Given the description of an element on the screen output the (x, y) to click on. 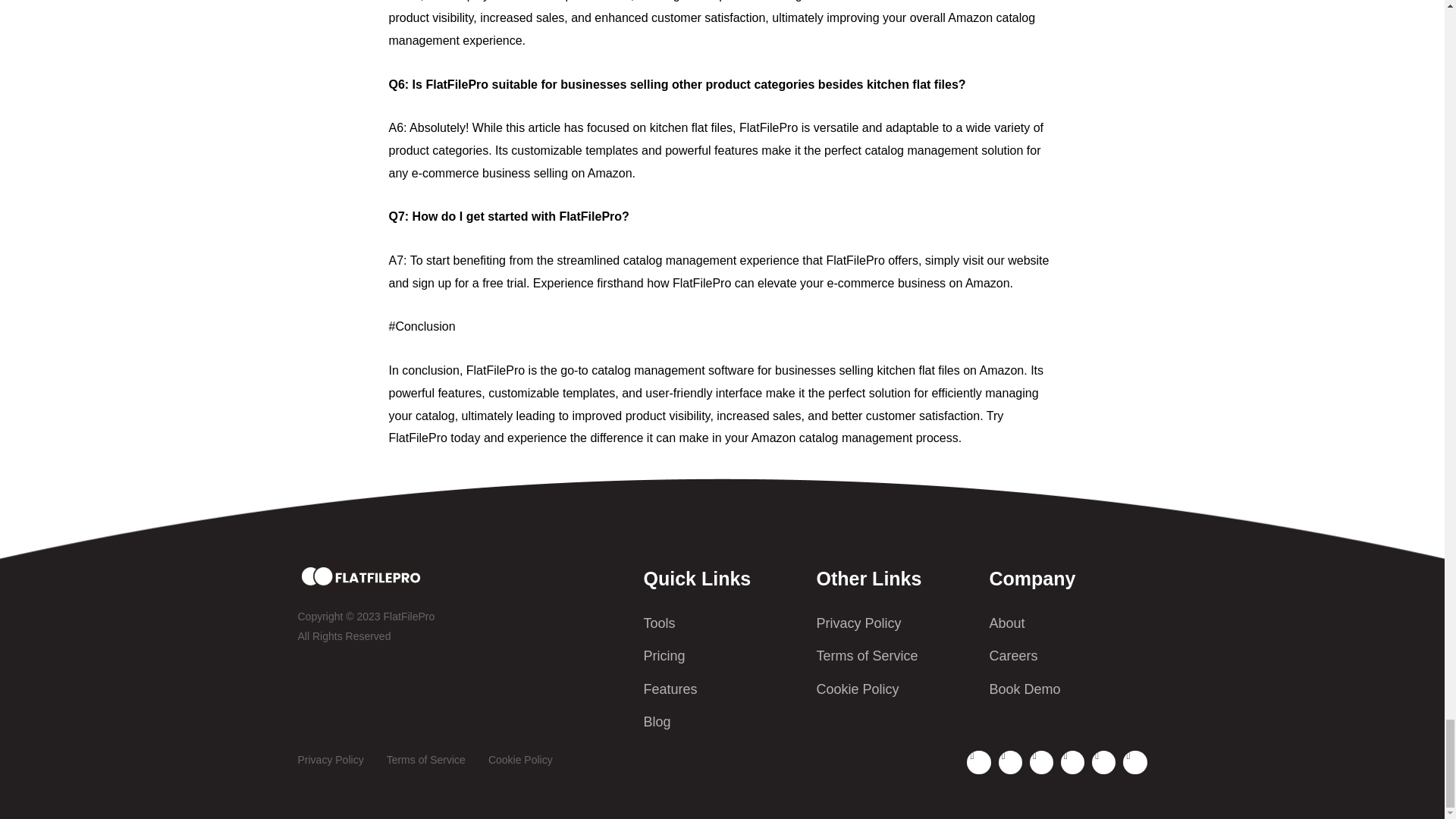
Instagram (1134, 762)
Youtube (1040, 762)
Features (721, 689)
Privacy Policy (894, 623)
Terms of Service (426, 760)
Cookie Policy (520, 760)
Facebook-f (978, 762)
Twitter (1103, 762)
Privacy Policy (329, 760)
Blog (721, 722)
Terms of Service (894, 656)
Tools (721, 623)
Envelope (1010, 762)
Linkedin-in (1072, 762)
Book Demo (1067, 689)
